Given the description of an element on the screen output the (x, y) to click on. 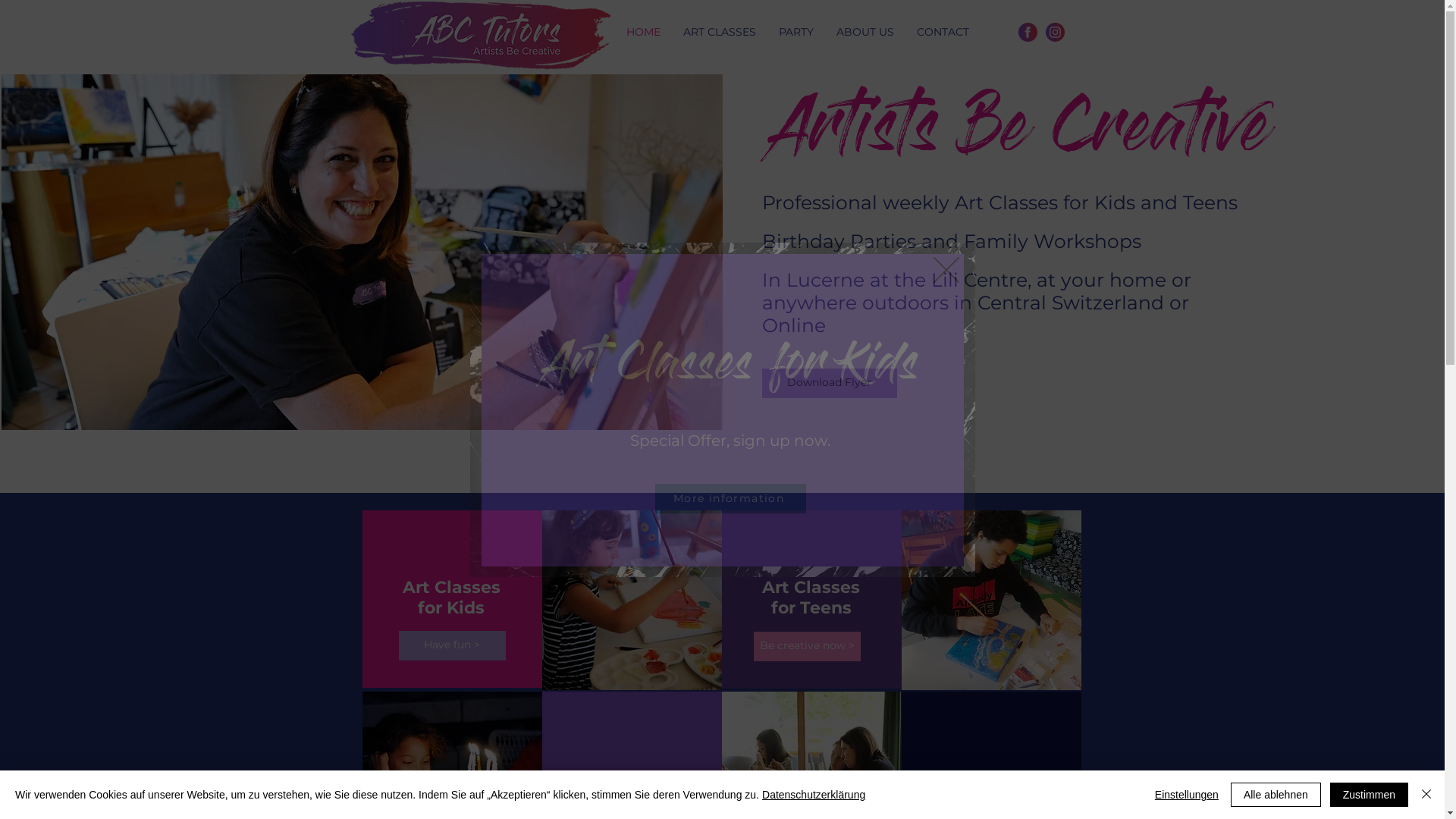
Zustimmen Element type: text (1369, 794)
PARTY Element type: text (796, 31)
Have fun > Element type: text (451, 645)
ABOUT US Element type: text (865, 31)
HOME Element type: text (642, 31)
CONTACT Element type: text (942, 31)
ART CLASSES Element type: text (719, 31)
Download Flyer Element type: text (829, 383)
Be creative now > Element type: text (806, 646)
Alle ablehnen Element type: text (1275, 794)
Back to site Element type: hover (945, 269)
Artists Be Creative Element type: text (1018, 134)
